Given the description of an element on the screen output the (x, y) to click on. 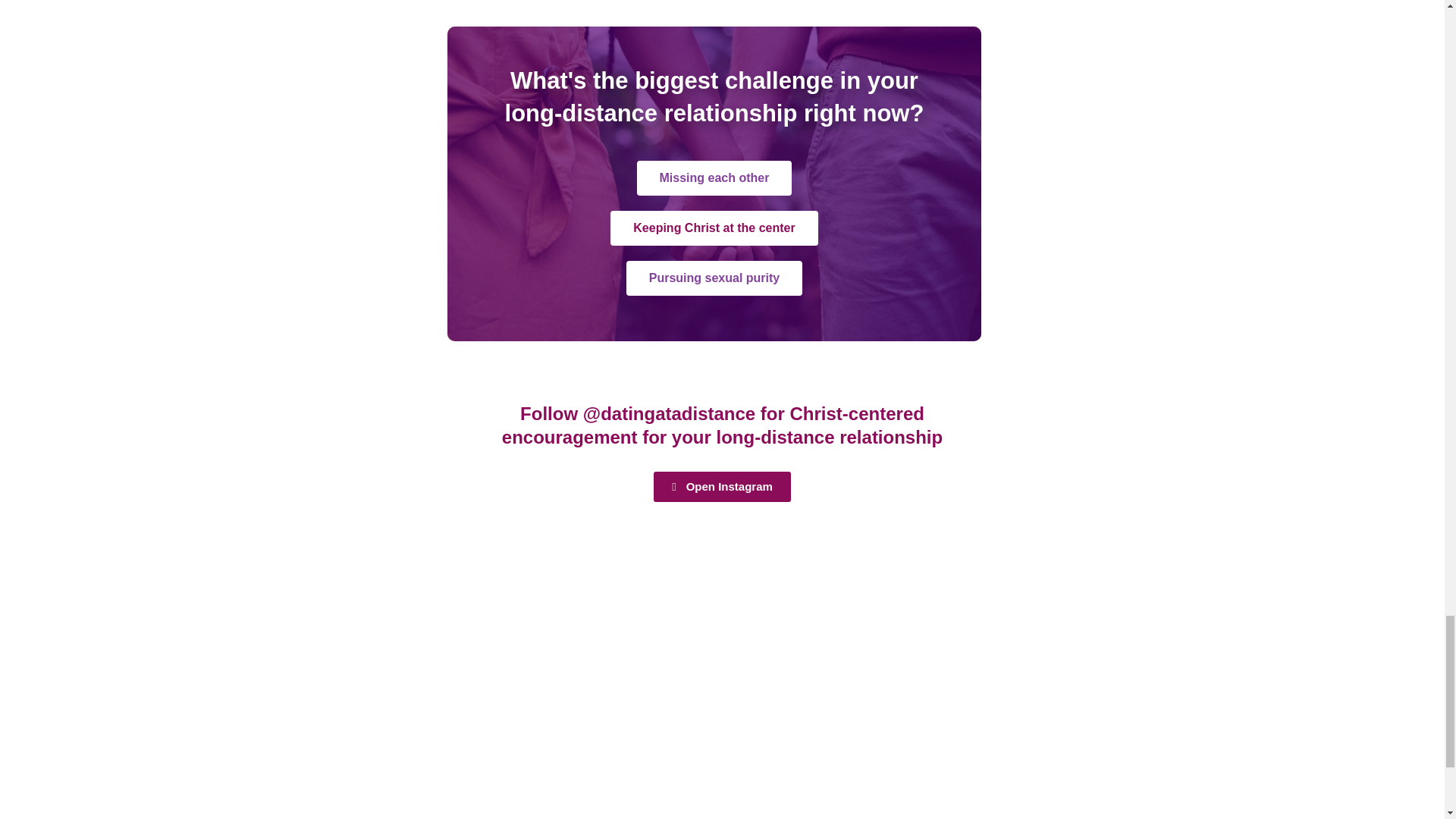
Missing each other (714, 177)
Open Instagram (721, 486)
Keeping Christ at the center (713, 227)
Pursuing sexual purity (714, 278)
